Given the description of an element on the screen output the (x, y) to click on. 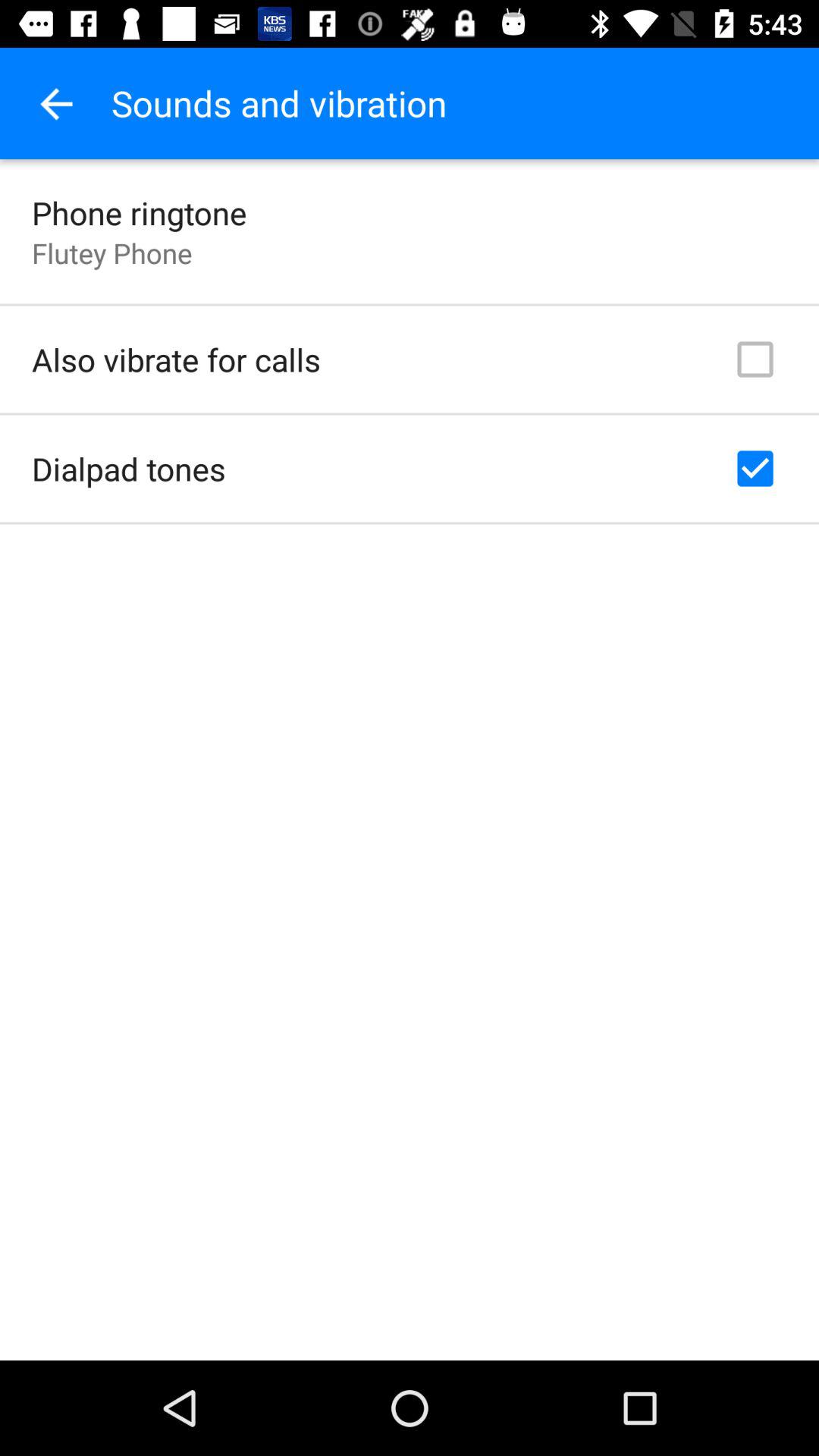
select also vibrate for item (175, 359)
